Given the description of an element on the screen output the (x, y) to click on. 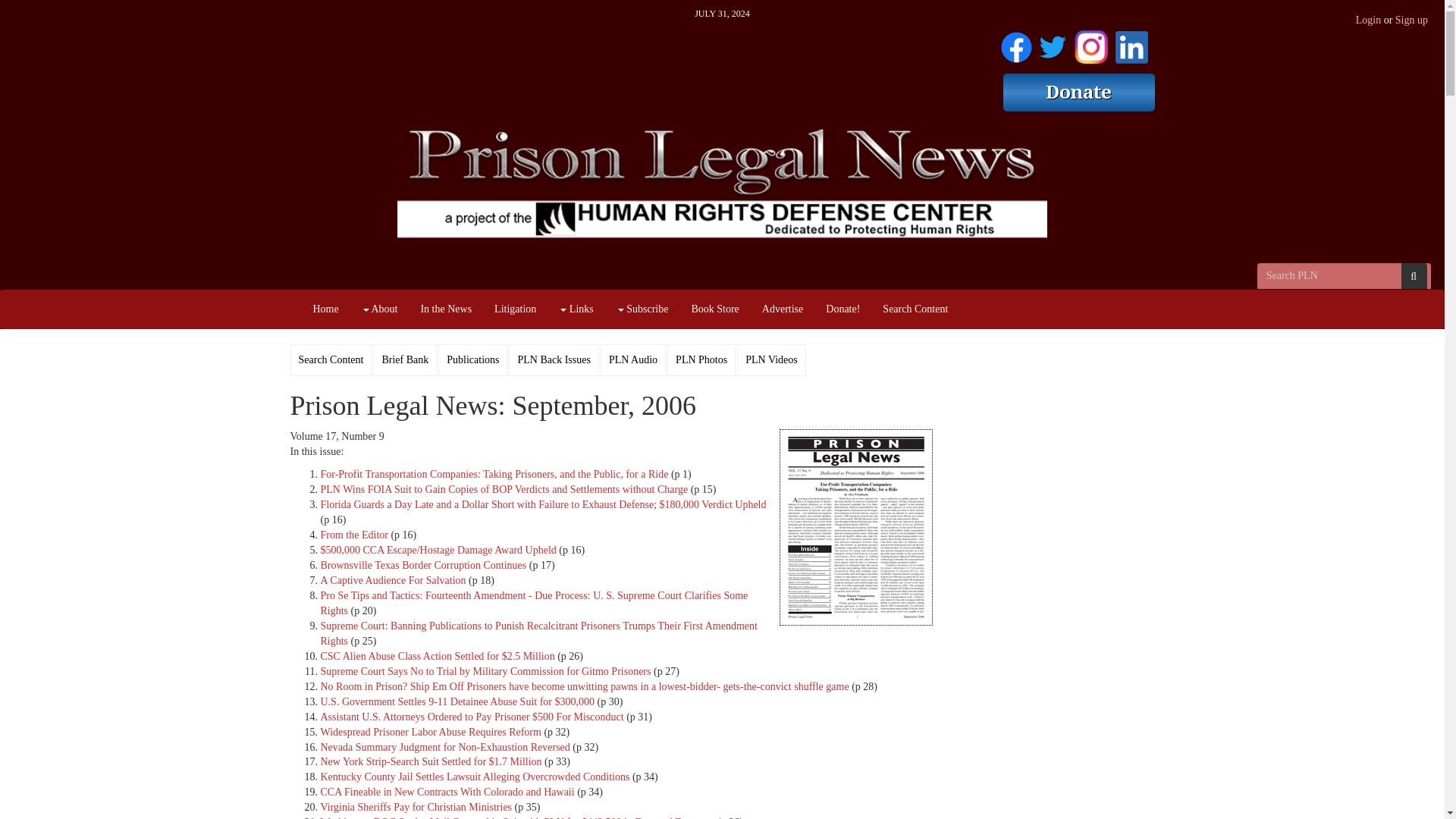
Publications (472, 359)
Home (325, 309)
Search (1413, 275)
About (379, 309)
In the News (446, 309)
HRDC Instagram Page (1091, 44)
Search Content (331, 359)
Prison Legal News FaceBook Page (1016, 44)
Links (575, 309)
Subscribe (642, 309)
Brief Bank (404, 359)
Search Content (914, 309)
Book Store (714, 309)
PLN Audio (633, 359)
PLN Back Issues (552, 359)
